Given the description of an element on the screen output the (x, y) to click on. 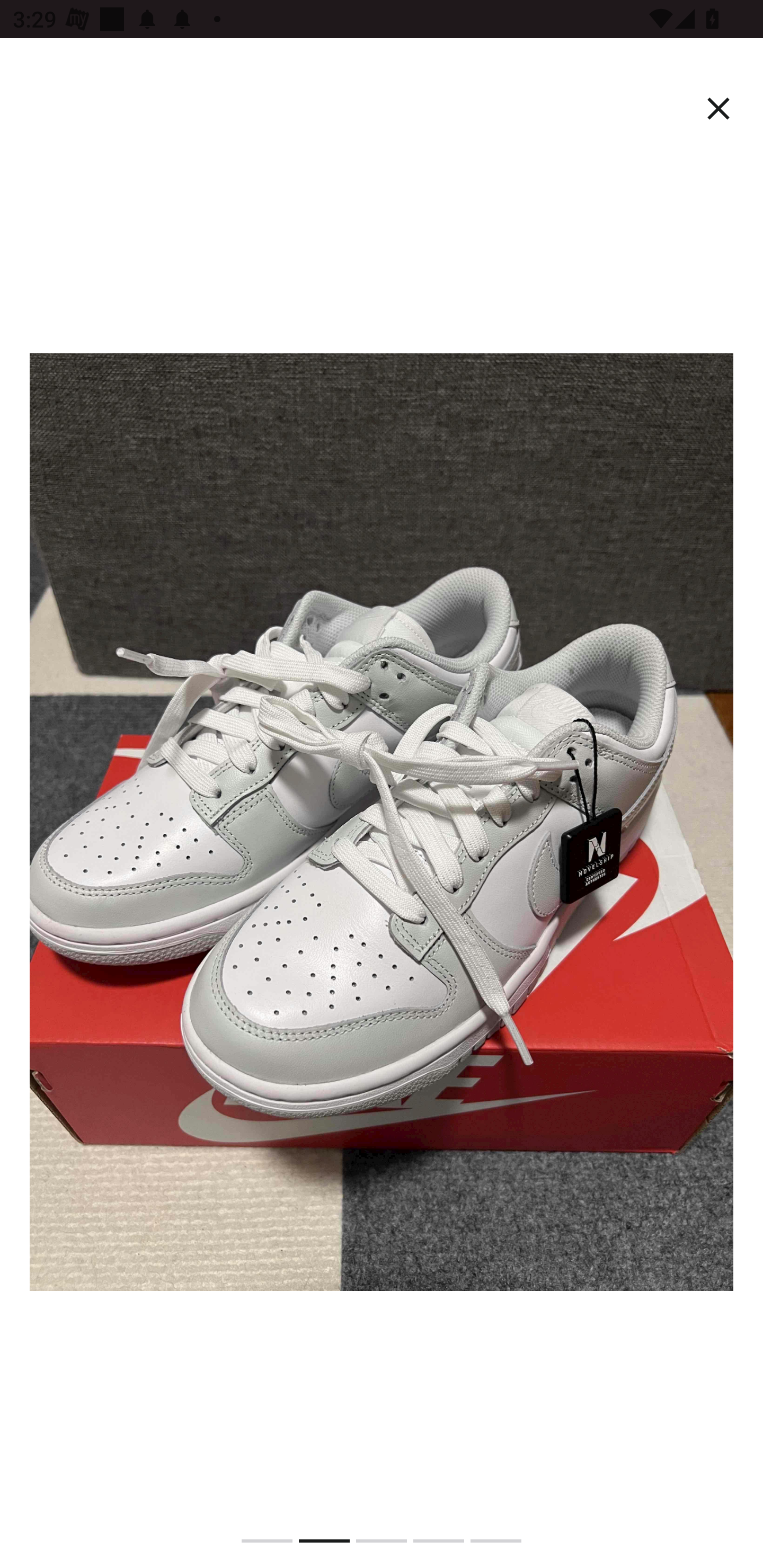
󰅖 (718, 108)
